Given the description of an element on the screen output the (x, y) to click on. 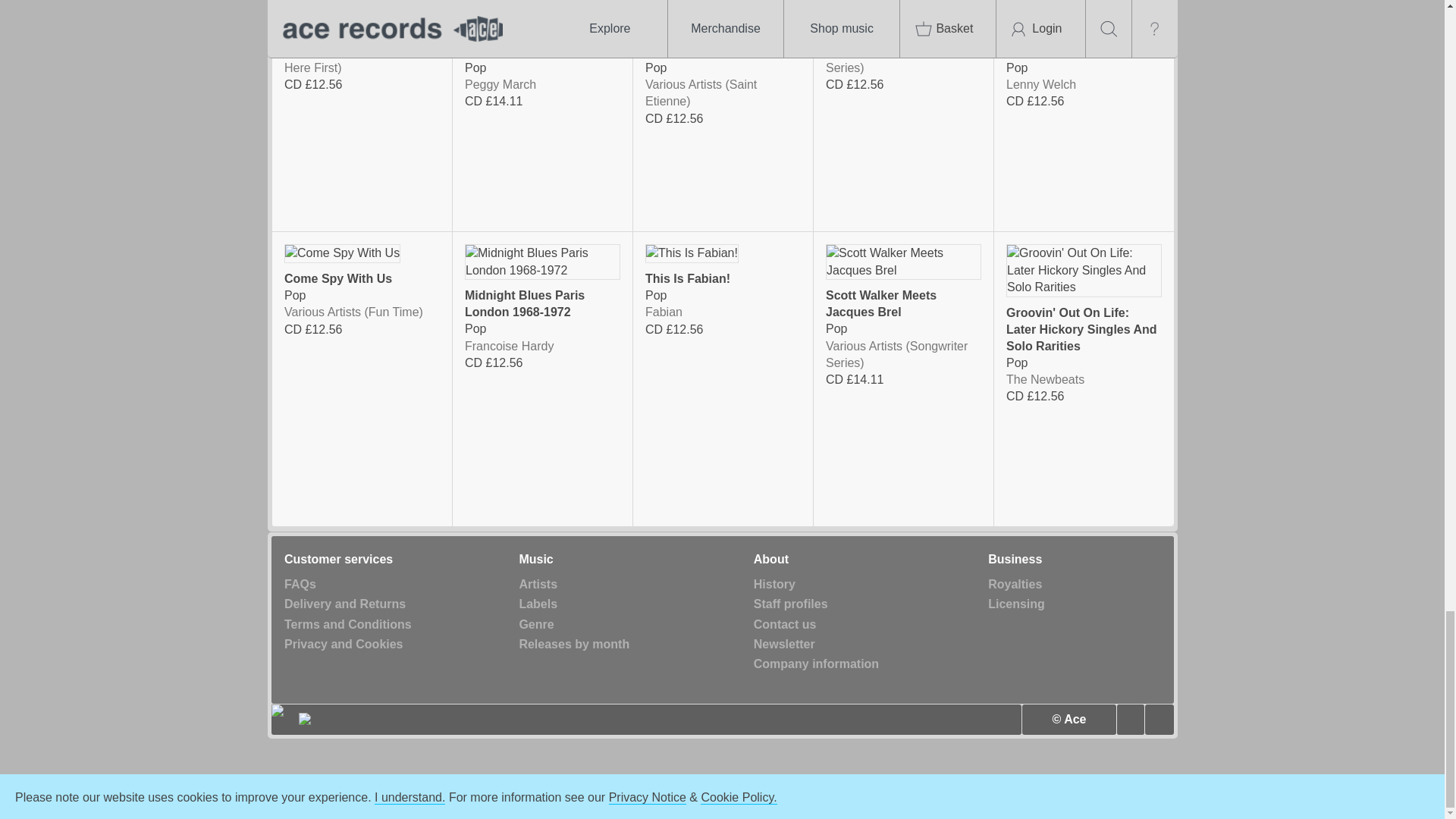
Twitter (1130, 719)
Facebook (1158, 719)
